Given the description of an element on the screen output the (x, y) to click on. 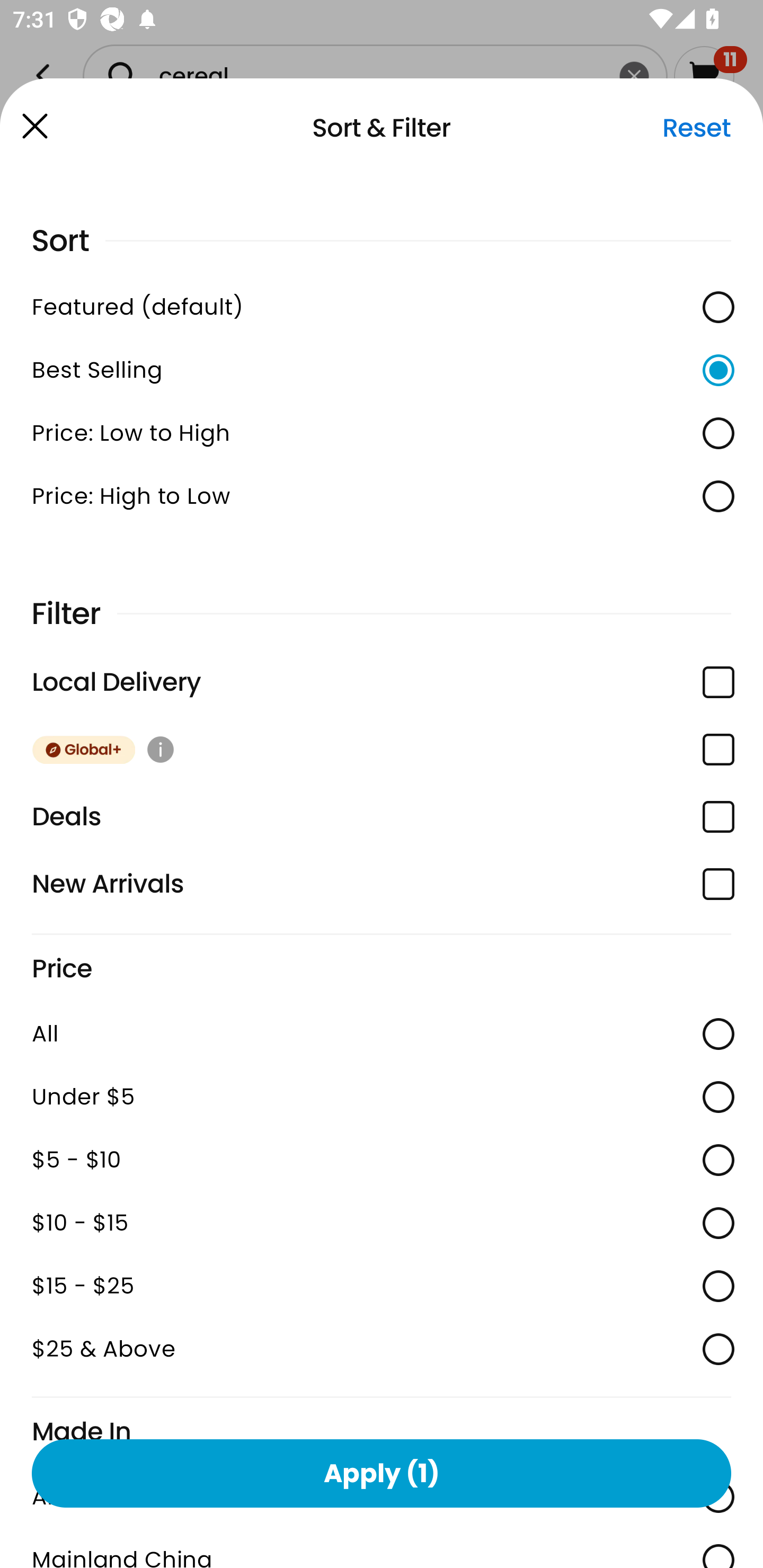
Reset (696, 127)
Apply (1) (381, 1472)
